Given the description of an element on the screen output the (x, y) to click on. 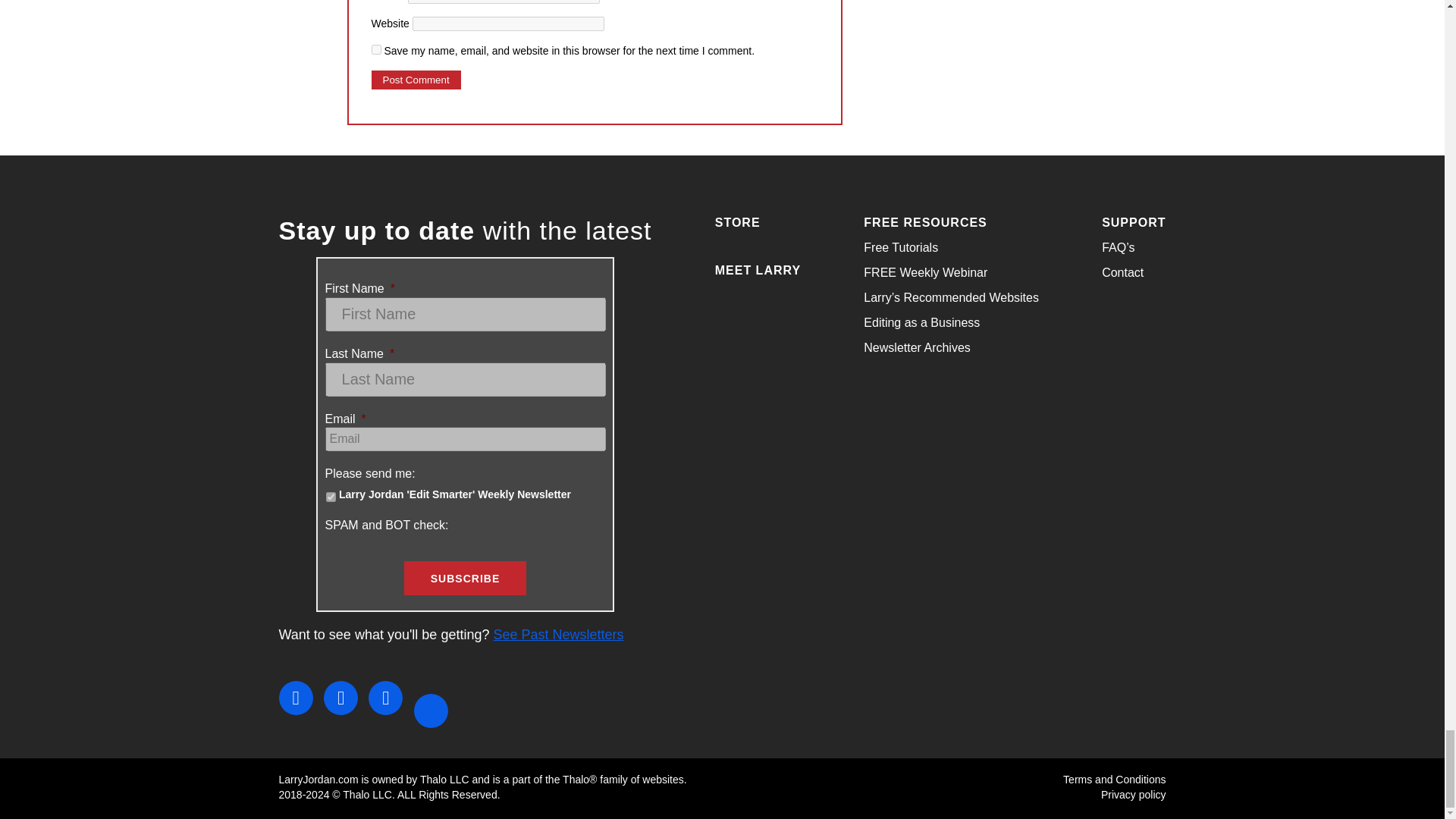
Post Comment (416, 79)
Newsletter Archive (558, 634)
yes (376, 49)
SUBSCRIBE (464, 578)
Twitter (340, 697)
Larry Jordan 'Edit Smarter' Weekly Newsletter (331, 497)
LinkedIn (385, 697)
Facebook (296, 697)
YouTube (430, 710)
